Given the description of an element on the screen output the (x, y) to click on. 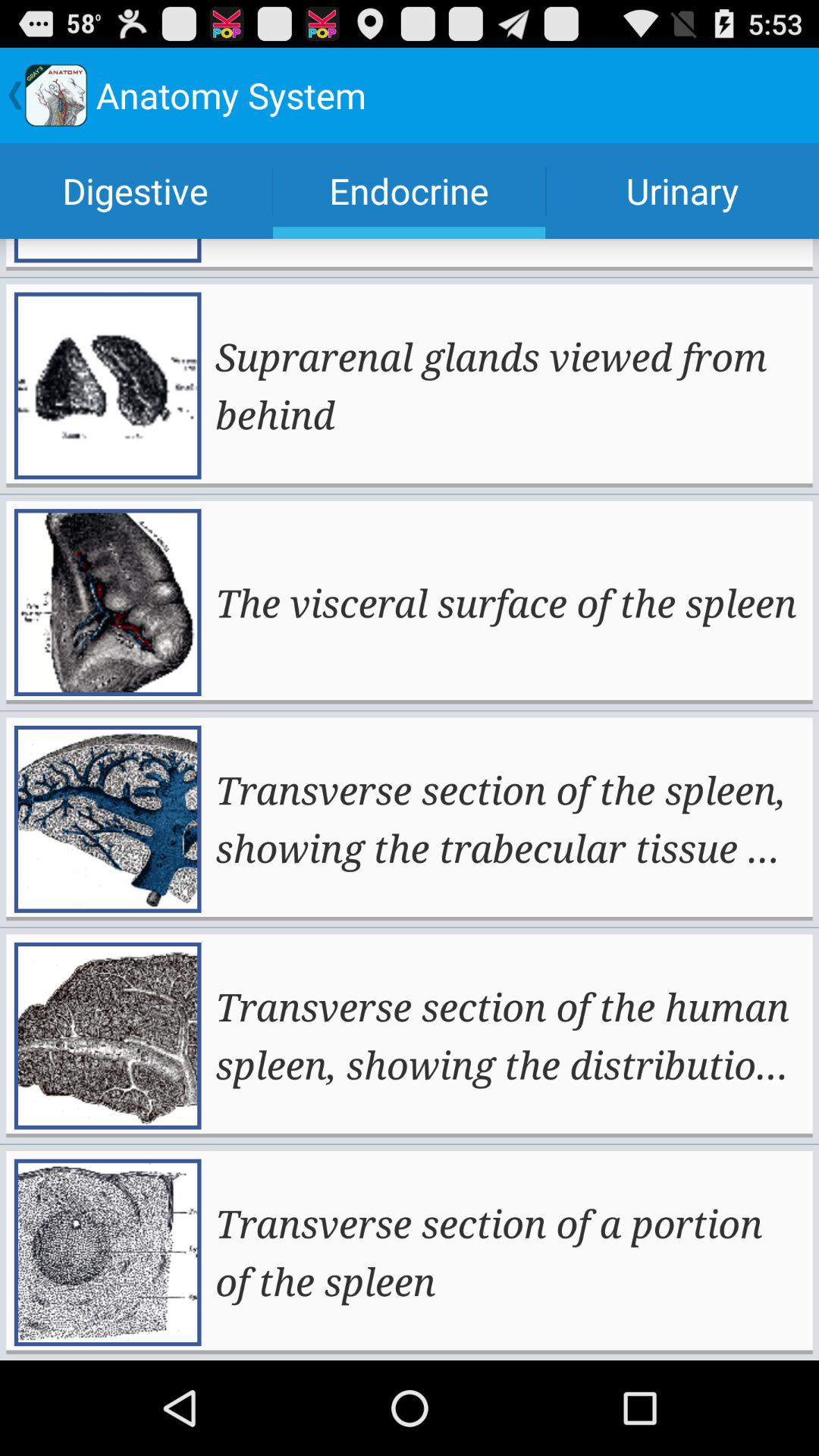
click the item above the visceral surface (507, 385)
